Given the description of an element on the screen output the (x, y) to click on. 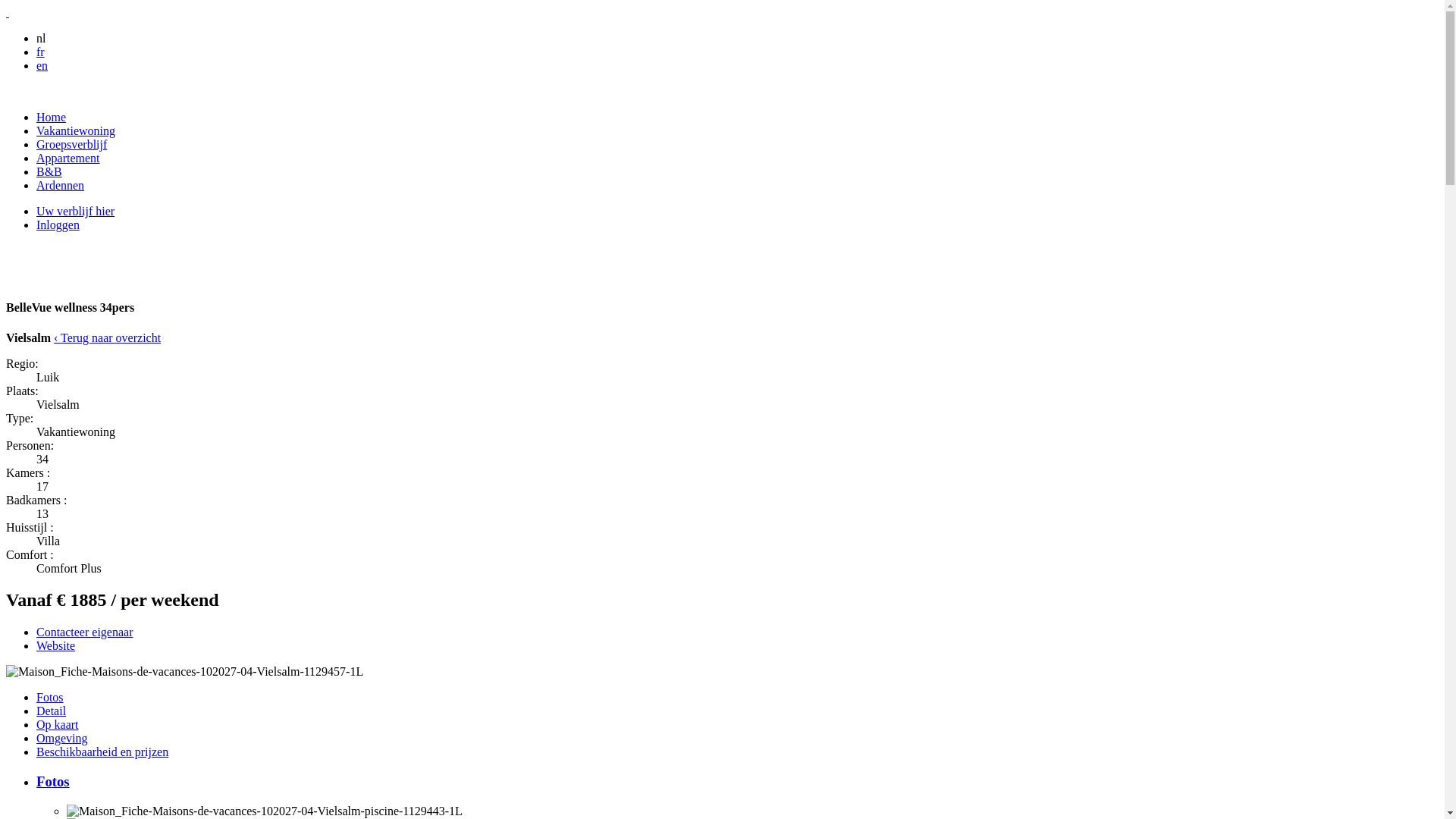
Website Element type: text (55, 645)
Fotos Element type: text (49, 696)
Uw verblijf hier Element type: text (75, 210)
Omgeving Element type: text (61, 737)
Vakantiewoning Element type: text (75, 130)
Groepsverblijf Element type: text (71, 144)
Fotos Element type: text (52, 781)
Contacteer eigenaar Element type: text (84, 631)
Beschikbaarheid en prijzen Element type: text (102, 751)
Ardennen Element type: text (60, 184)
Appartement Element type: text (68, 157)
Detail Element type: text (50, 710)
fr Element type: text (40, 51)
Home Element type: text (50, 116)
en Element type: text (41, 65)
Op kaart Element type: text (57, 724)
B&B Element type: text (49, 171)
Inloggen Element type: text (57, 224)
